Given the description of an element on the screen output the (x, y) to click on. 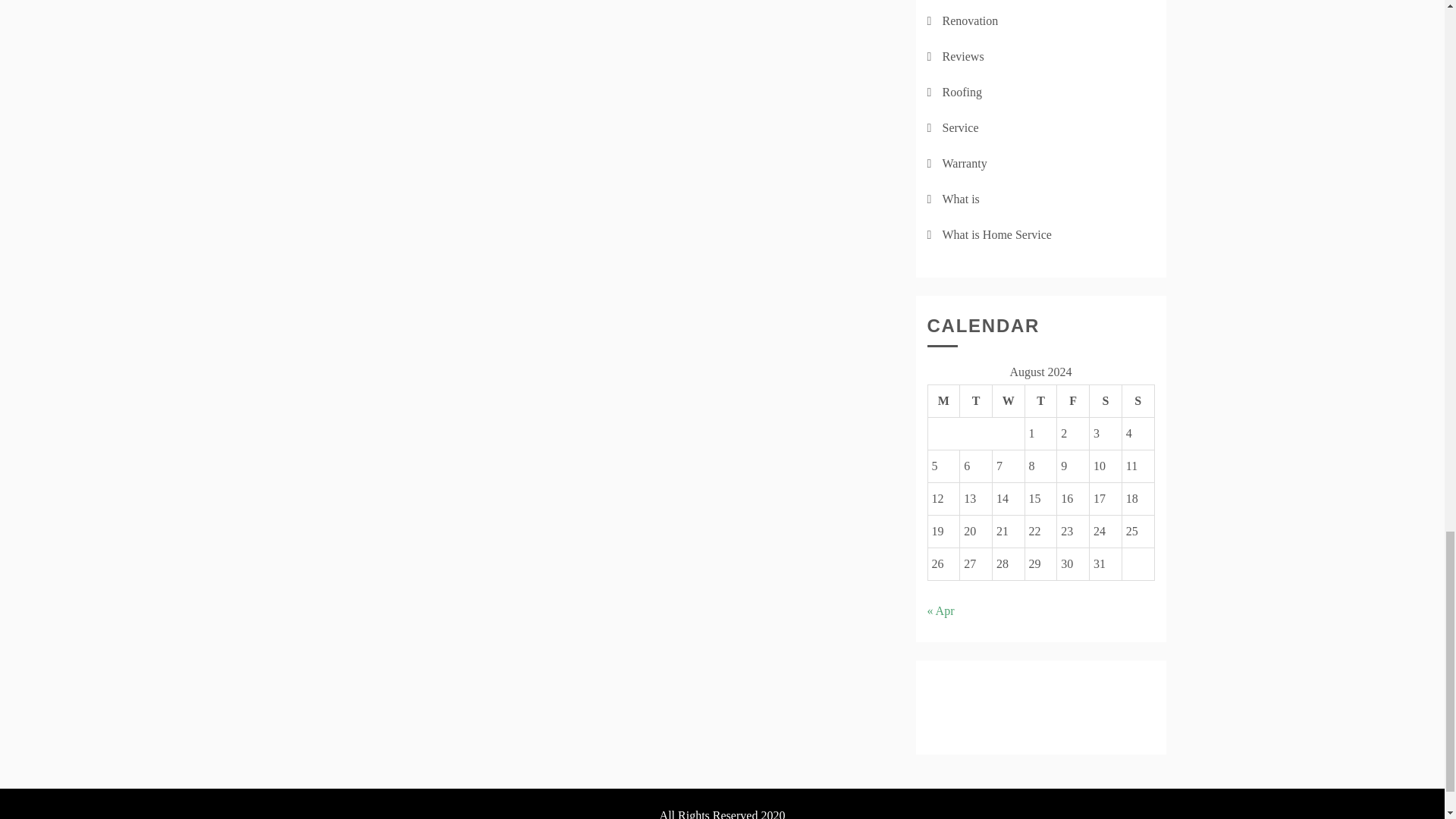
Wednesday (1008, 400)
Saturday (1105, 400)
Friday (1073, 400)
Thursday (1041, 400)
Tuesday (975, 400)
Monday (943, 400)
Sunday (1137, 400)
